Given the description of an element on the screen output the (x, y) to click on. 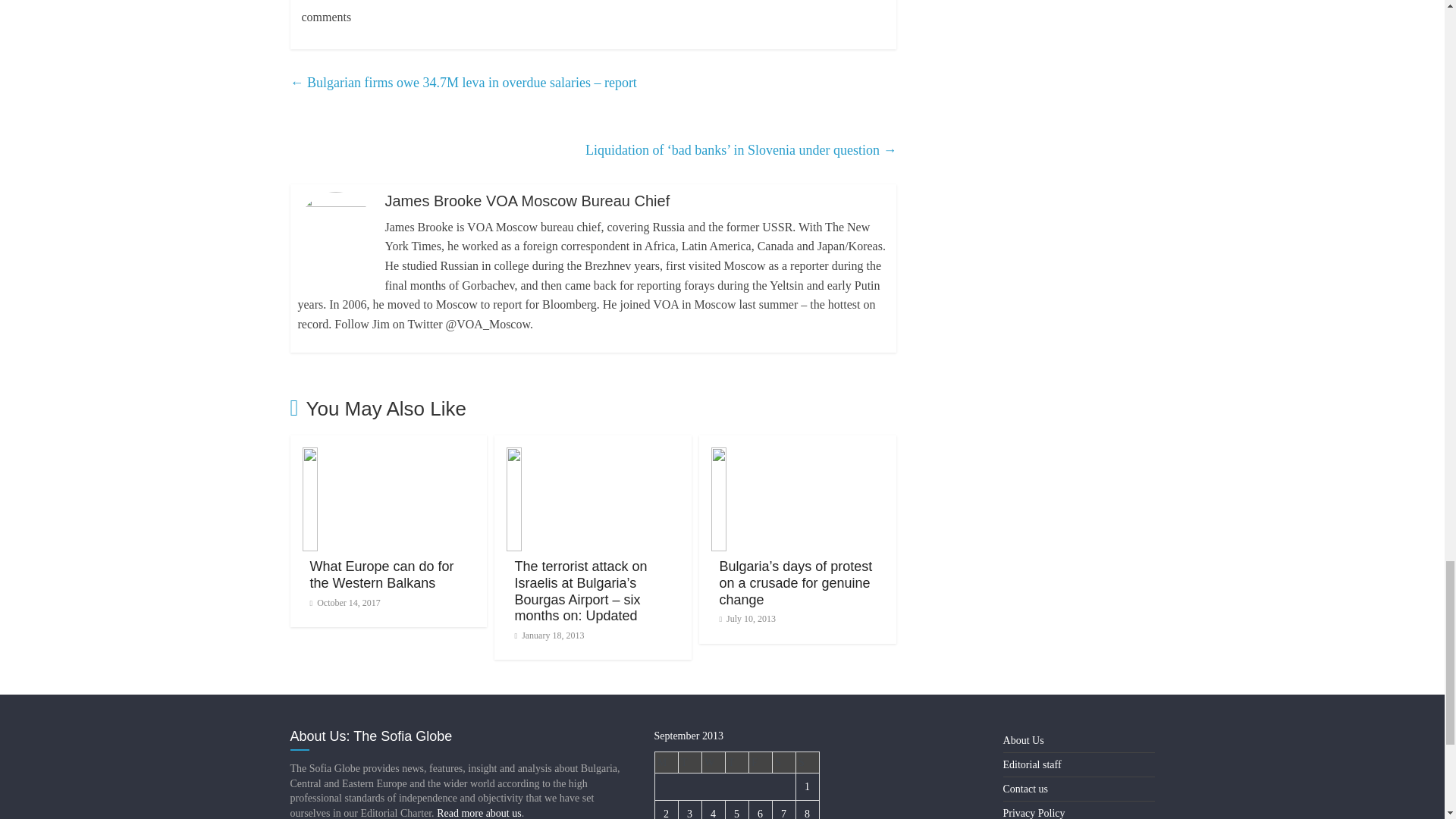
October 14, 2017 (344, 602)
What Europe can do for the Western Balkans (380, 574)
January 18, 2013 (548, 634)
9:54 PM (344, 602)
What Europe can do for the Western Balkans (387, 456)
July 10, 2013 (747, 618)
1:00 AM (548, 634)
What Europe can do for the Western Balkans (380, 574)
